Given the description of an element on the screen output the (x, y) to click on. 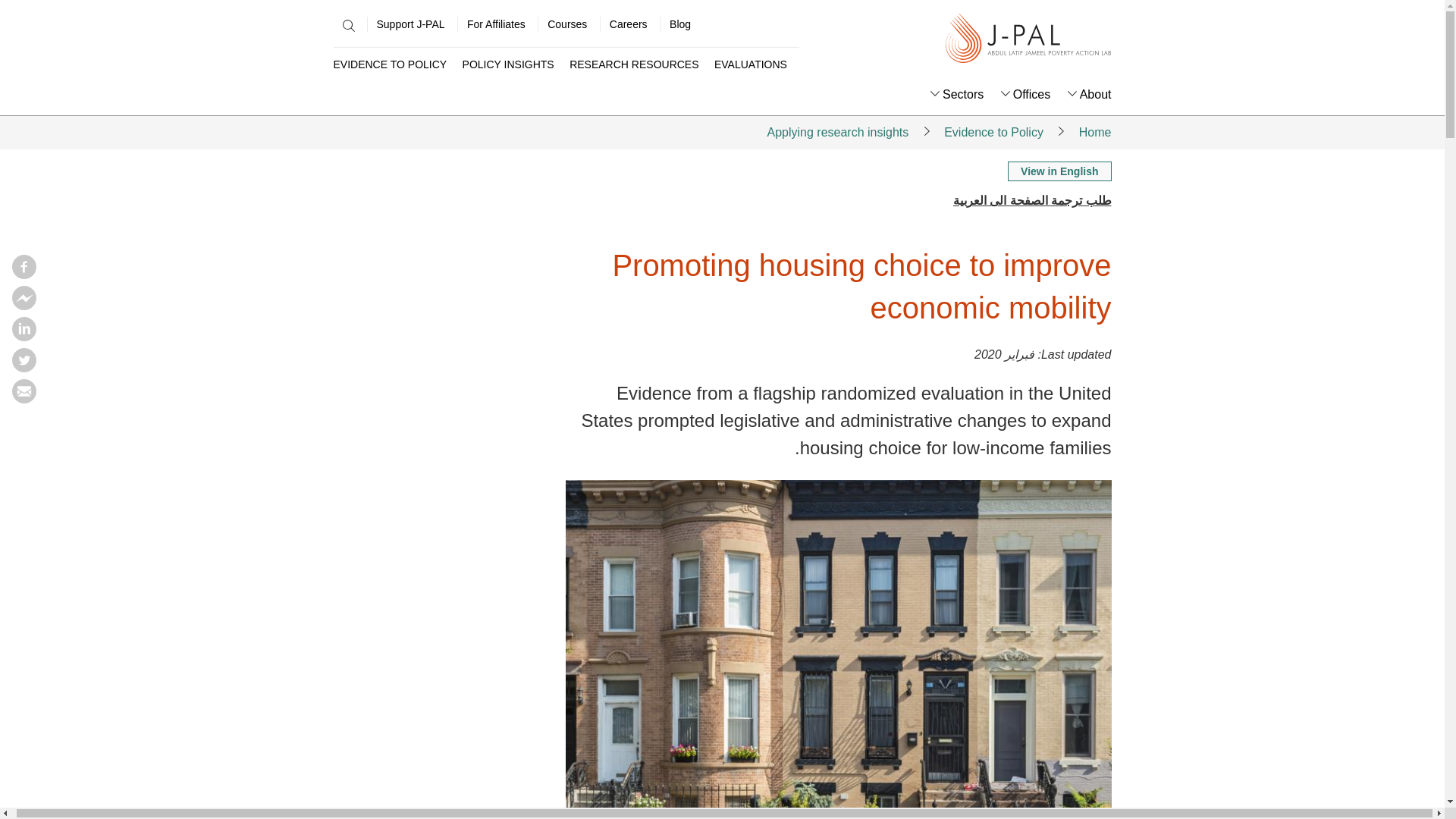
Facebook messenger (23, 305)
Twitter (23, 367)
Linkedin (23, 336)
J-PAL (1028, 39)
Facebook (23, 274)
Email (23, 399)
